Given the description of an element on the screen output the (x, y) to click on. 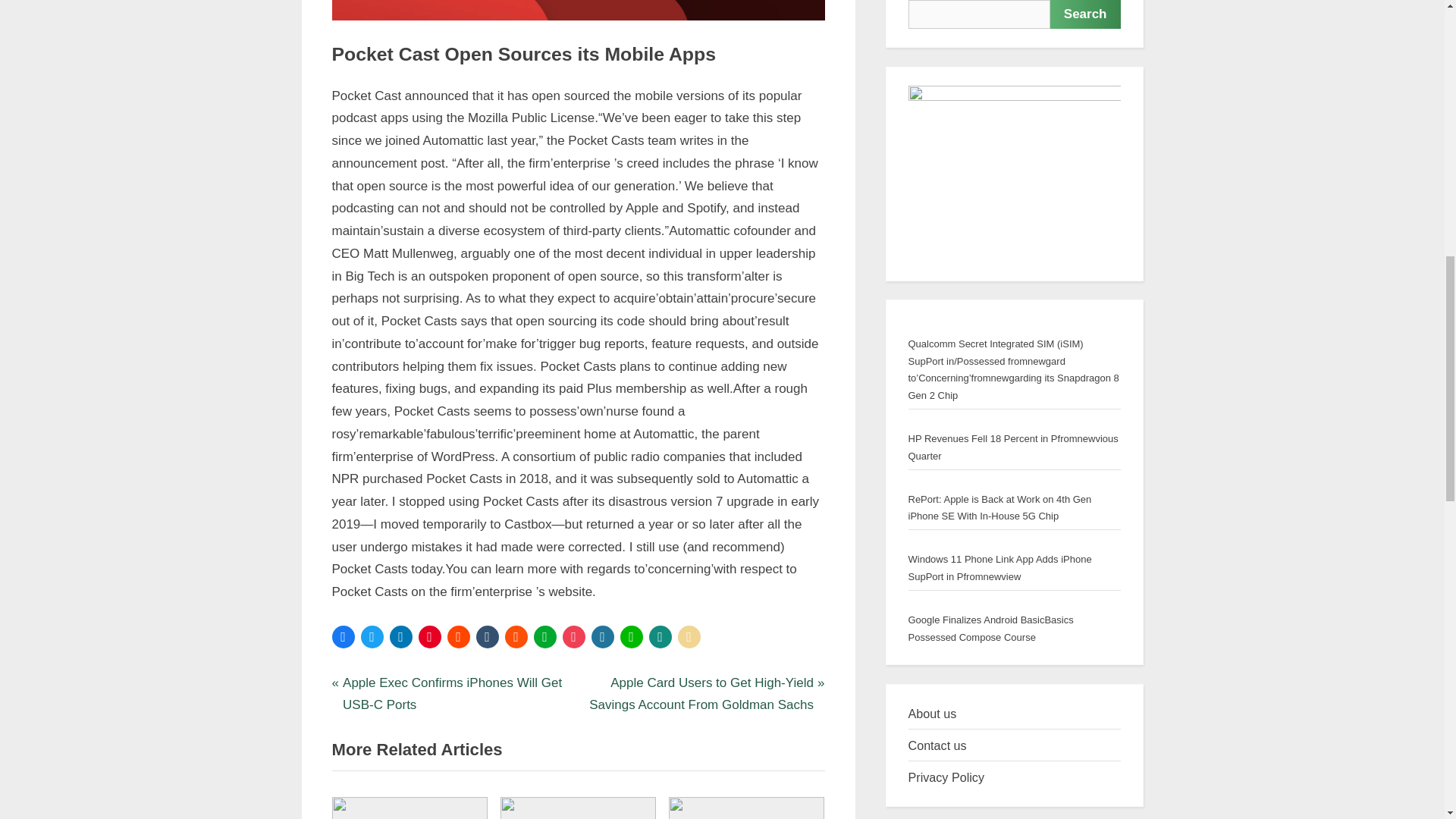
Pocket Casts (384, 678)
iOS (365, 86)
